Given the description of an element on the screen output the (x, y) to click on. 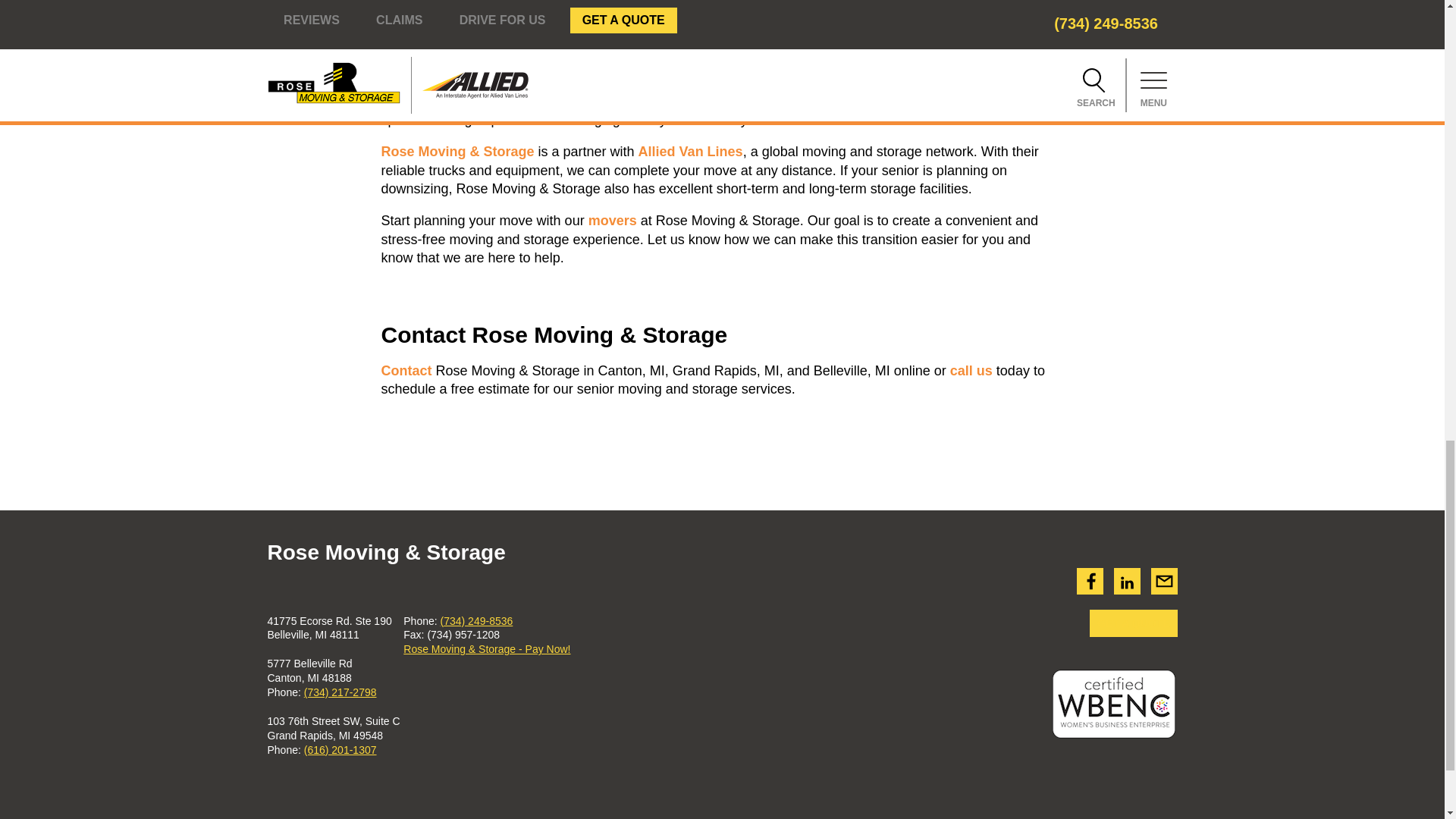
call us (971, 370)
movers (612, 220)
Allied Van Lines (690, 151)
Contact (405, 370)
